Given the description of an element on the screen output the (x, y) to click on. 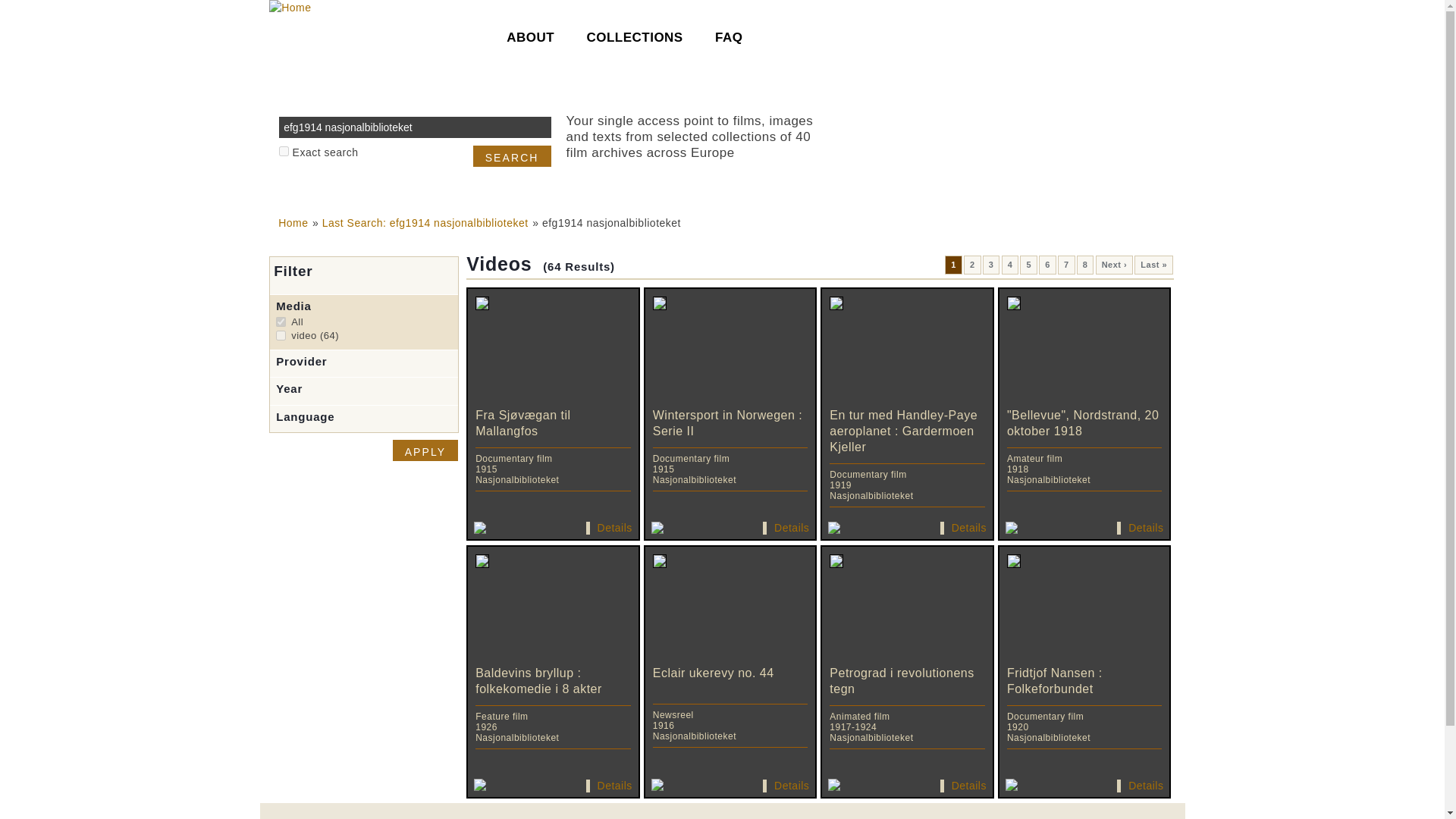
Apply (425, 450)
FAQ (732, 33)
Last Search: efg1914 nasjonalbiblioteket (424, 223)
exact (283, 151)
Home (292, 223)
all (953, 264)
Apply (280, 321)
Skip to main content (972, 264)
Search (425, 450)
efg1914 nasjonalbiblioteket (991, 264)
ABOUT (512, 156)
